Given the description of an element on the screen output the (x, y) to click on. 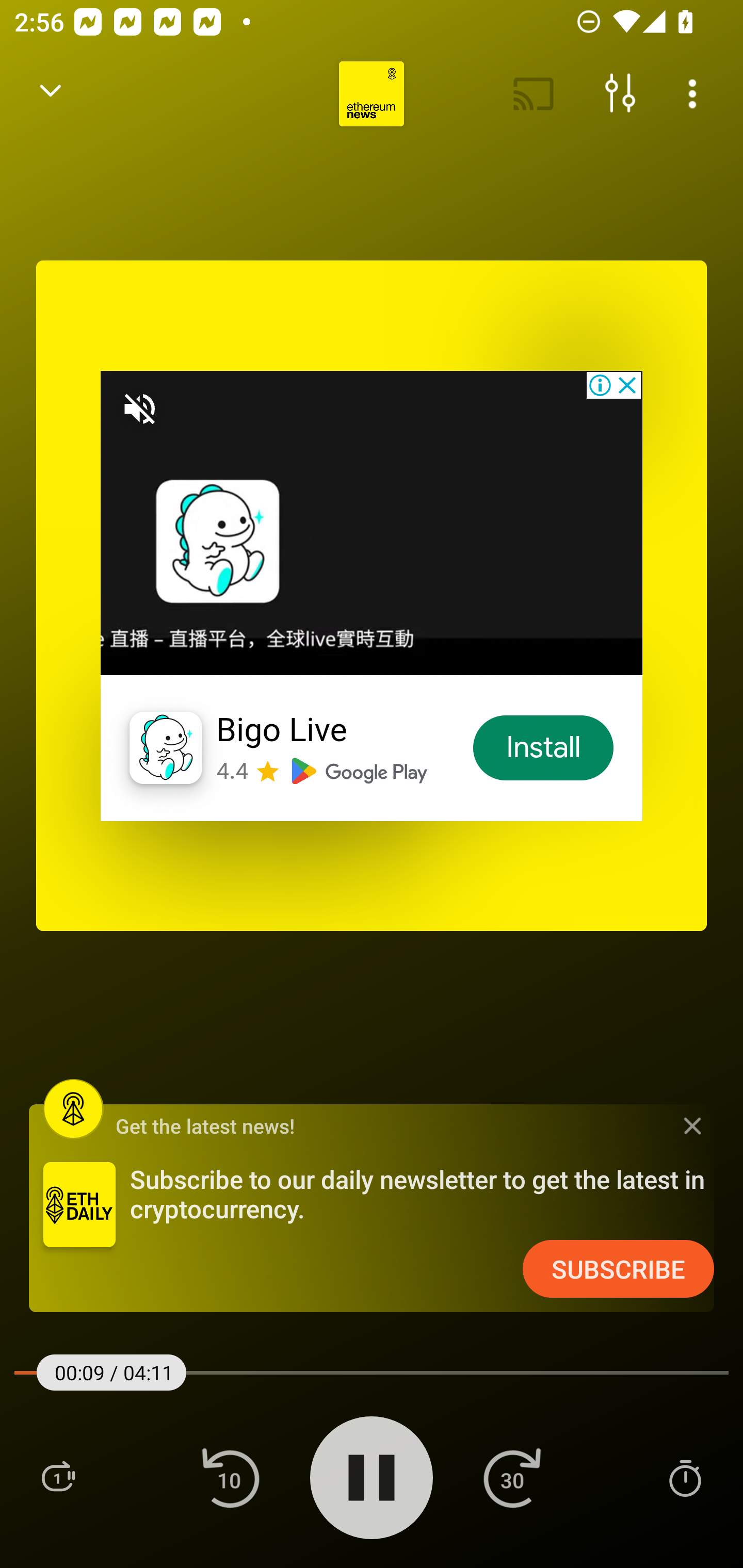
Cast. Disconnected (533, 93)
 Back (50, 94)
Bigo Live 4.4 Install Install (371, 595)
Install (543, 747)
SUBSCRIBE (618, 1269)
 Playlist (57, 1477)
Sleep Timer  (684, 1477)
